Given the description of an element on the screen output the (x, y) to click on. 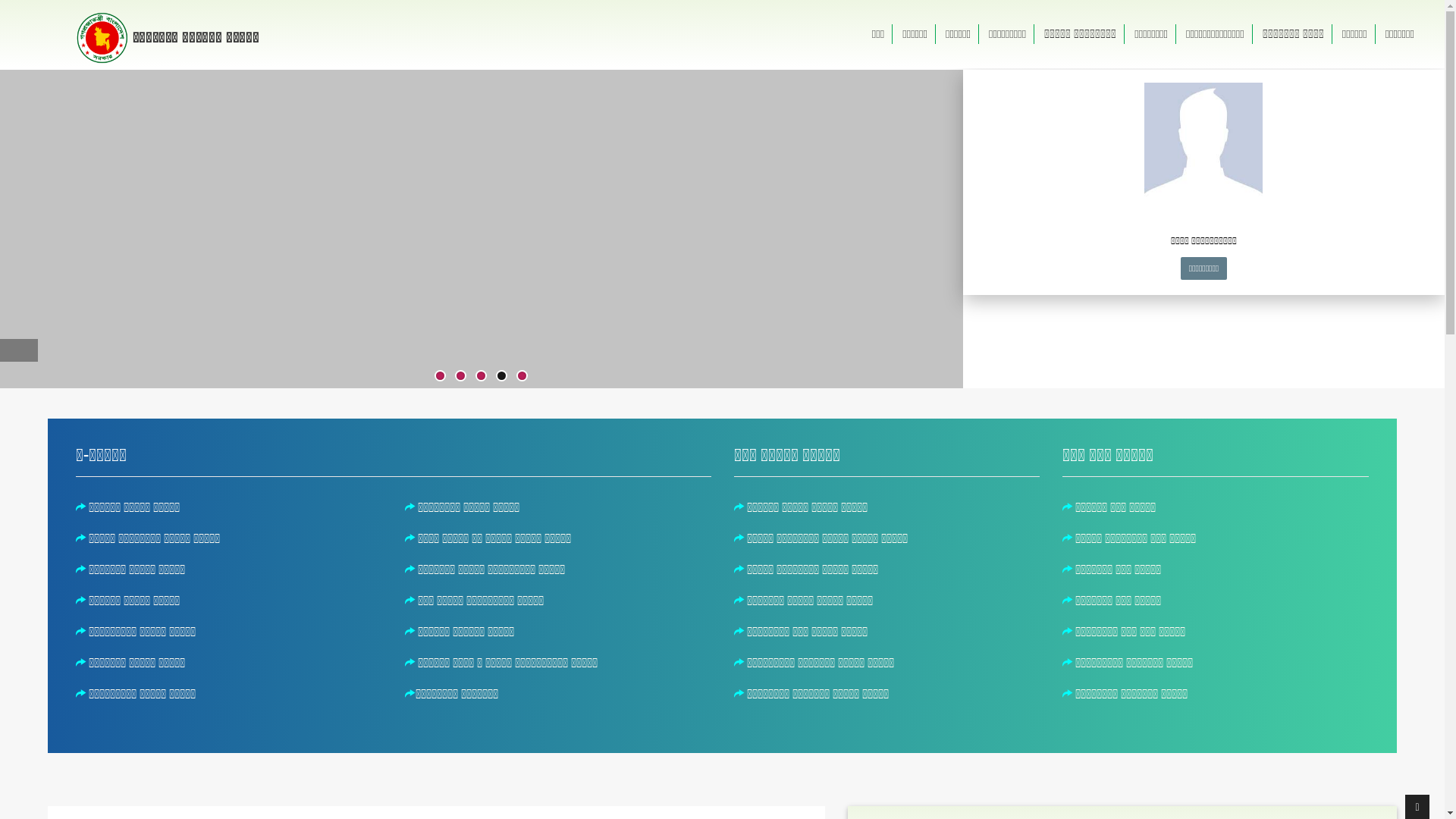
1 Element type: text (440, 375)
3 Element type: text (480, 375)
4 Element type: text (501, 375)
5 Element type: text (521, 375)
2 Element type: text (460, 375)
